Given the description of an element on the screen output the (x, y) to click on. 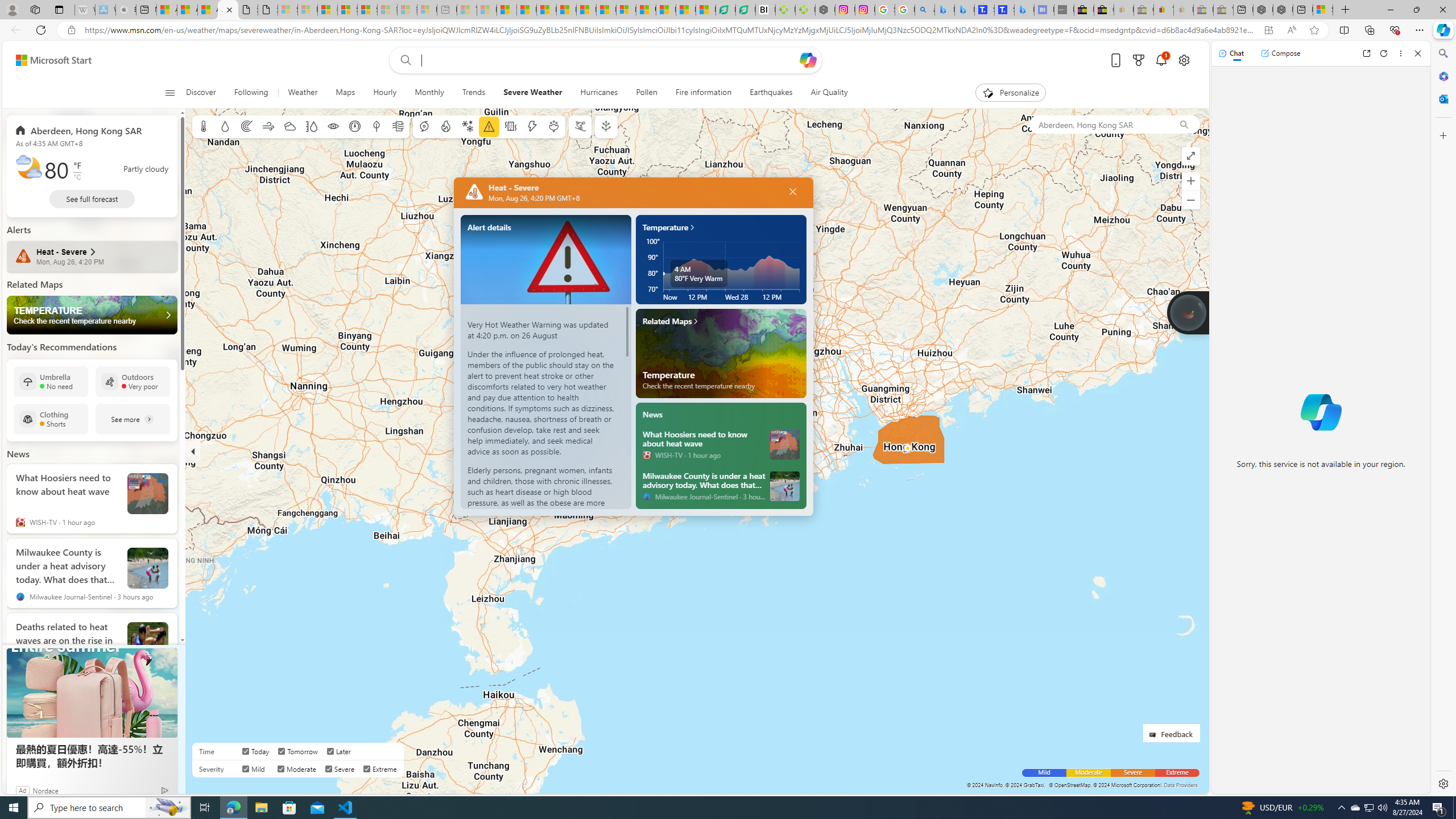
Sign in to your Microsoft account - Sleeping (287, 9)
Humidity (311, 126)
Monthly (429, 92)
Maps (345, 92)
Hide (192, 450)
Deaths related to heat waves are on the rise in U.S. (67, 638)
Microsoft Services Agreement - Sleeping (306, 9)
Dew point (376, 126)
Buy iPad - Apple - Sleeping (125, 9)
